Given the description of an element on the screen output the (x, y) to click on. 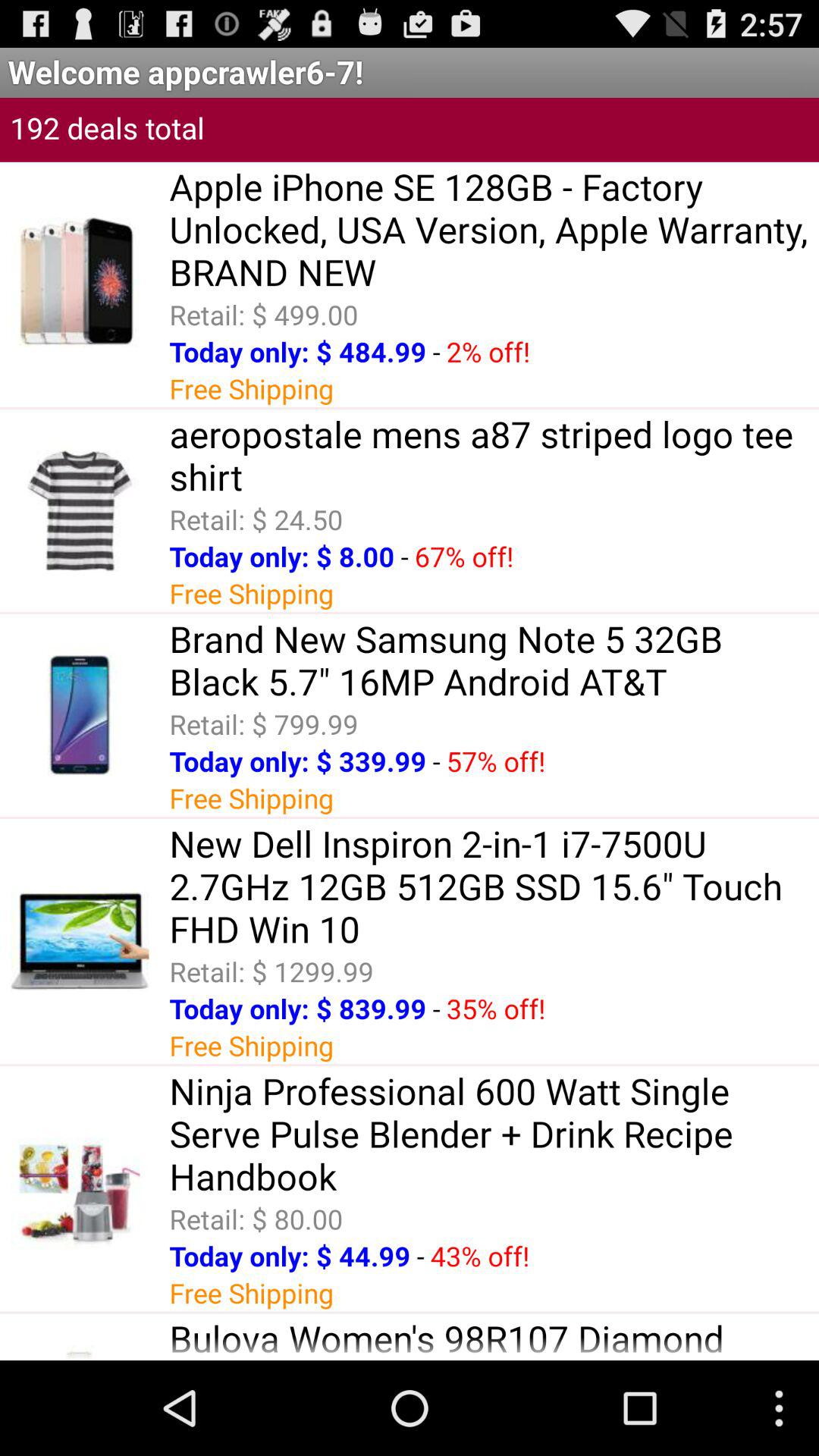
turn off app to the left of 2% off! item (436, 351)
